Given the description of an element on the screen output the (x, y) to click on. 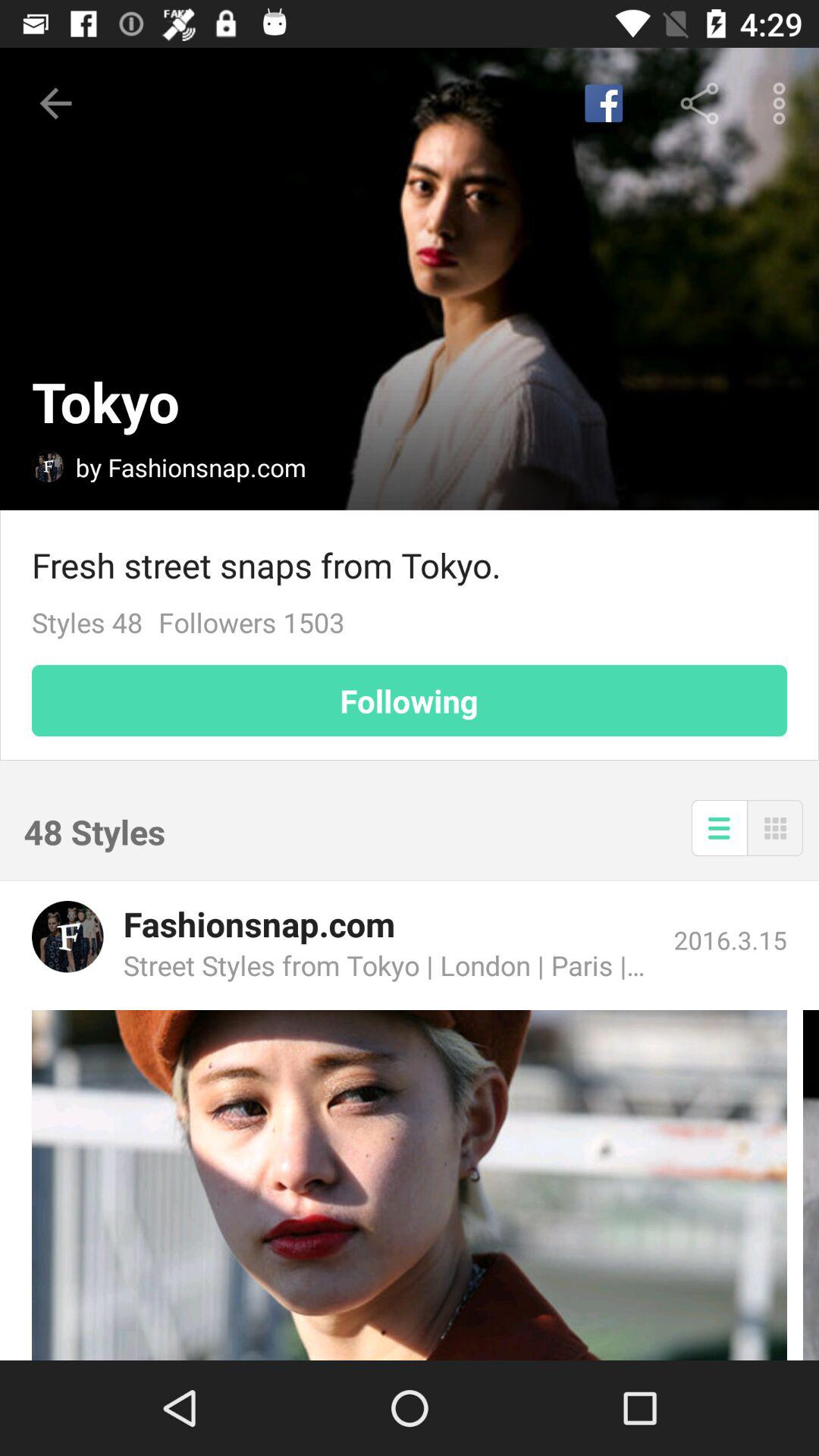
select the item above the 48 styles icon (409, 700)
